Given the description of an element on the screen output the (x, y) to click on. 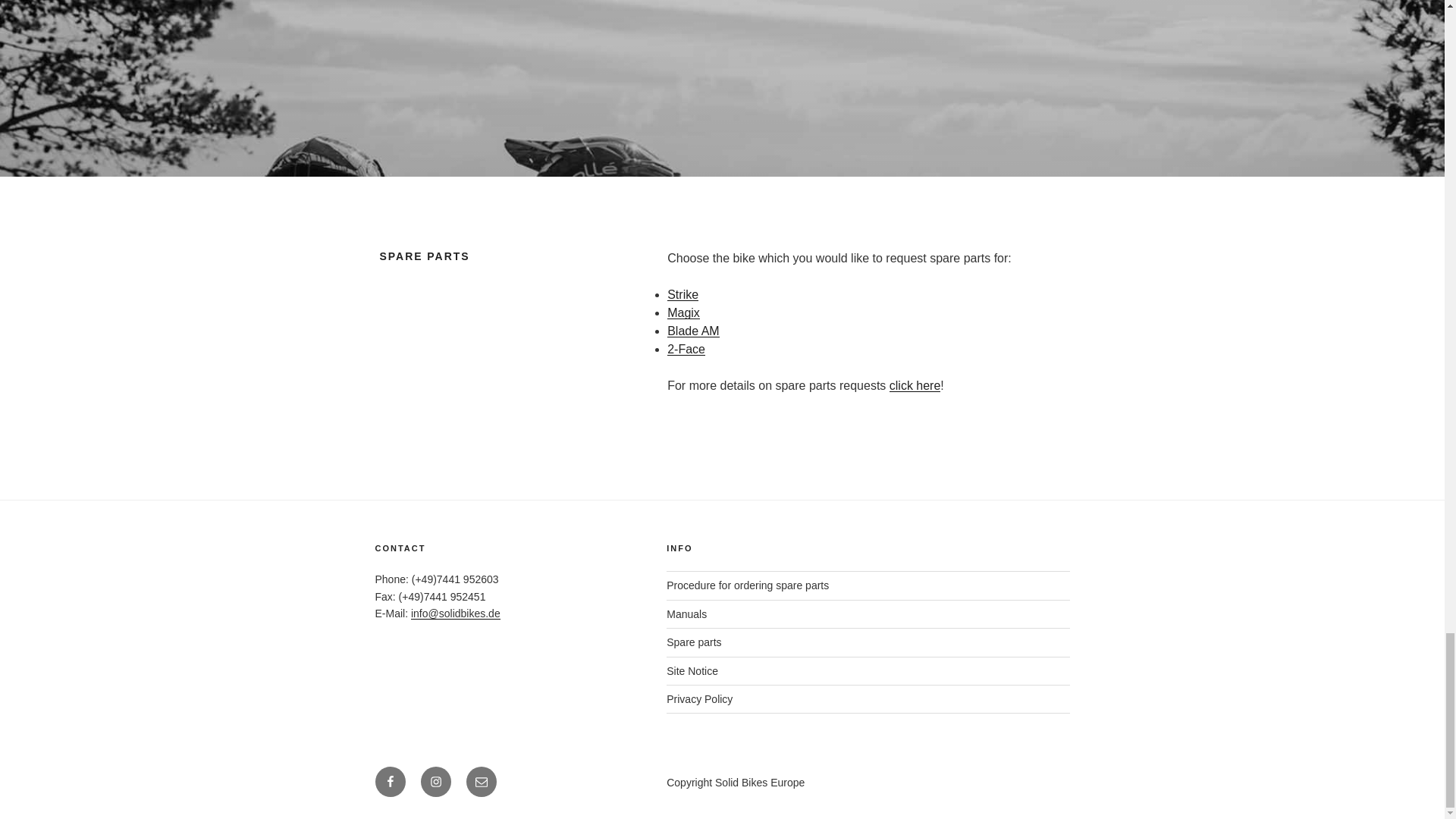
Facebook (389, 781)
E-Mail (480, 781)
Site Notice (691, 671)
Procedure for ordering spare parts (747, 585)
Spare parts (693, 642)
Manuals (686, 613)
Strike (682, 294)
Magix (683, 312)
2-Face (685, 349)
Privacy Policy (699, 698)
Instagram (435, 781)
click here (914, 385)
Blade AM (692, 330)
